Given the description of an element on the screen output the (x, y) to click on. 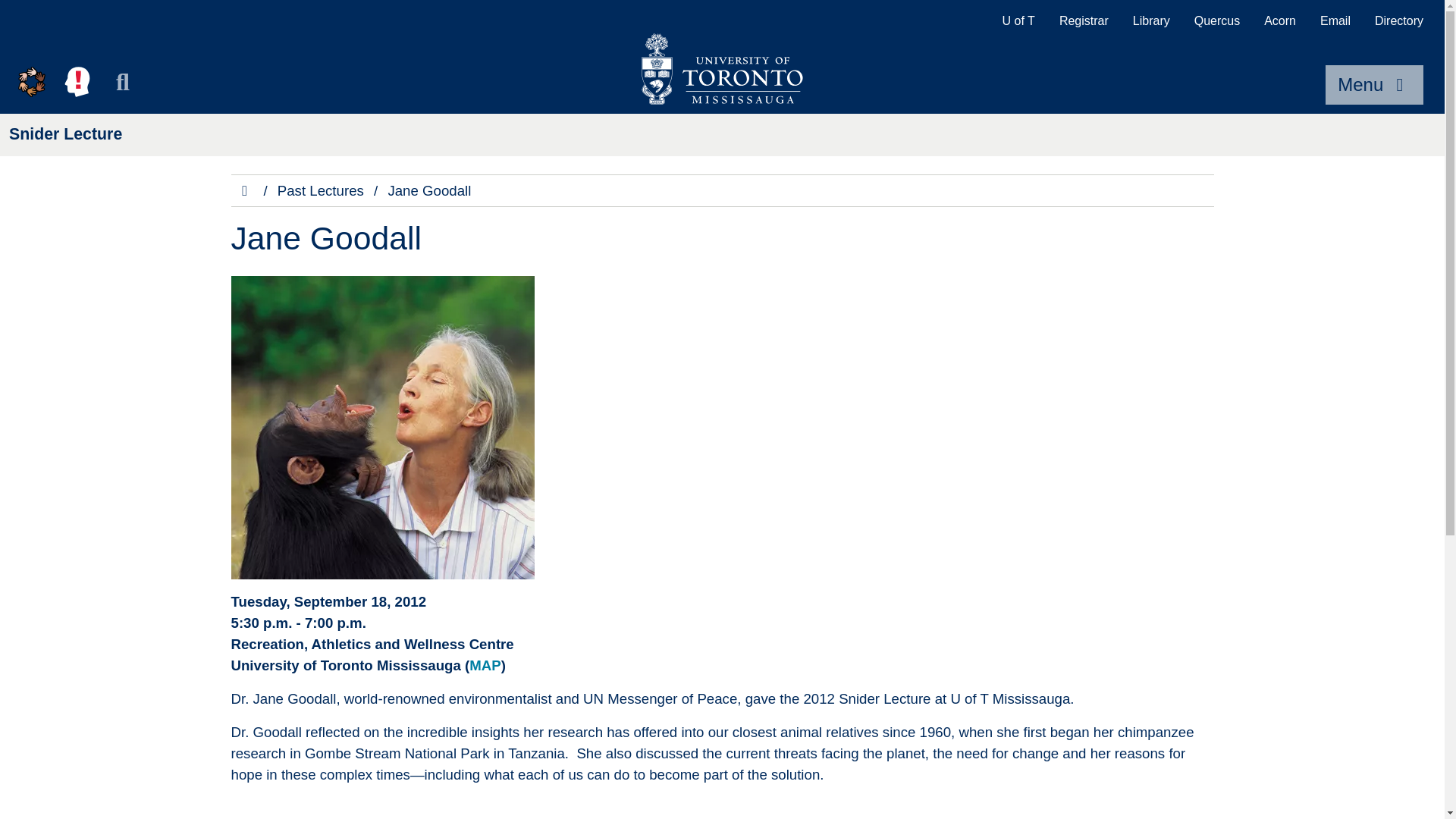
Acorn (1279, 21)
Snider Lecture (65, 134)
Library (1151, 21)
Search (122, 81)
Registrar (1083, 21)
menu (1373, 84)
Home (244, 191)
Quercus (1217, 21)
Email (1334, 21)
Menu (1373, 84)
Past Lectures (321, 190)
U of T (1018, 21)
Search (122, 81)
Home (246, 190)
Directory (1398, 21)
